Given the description of an element on the screen output the (x, y) to click on. 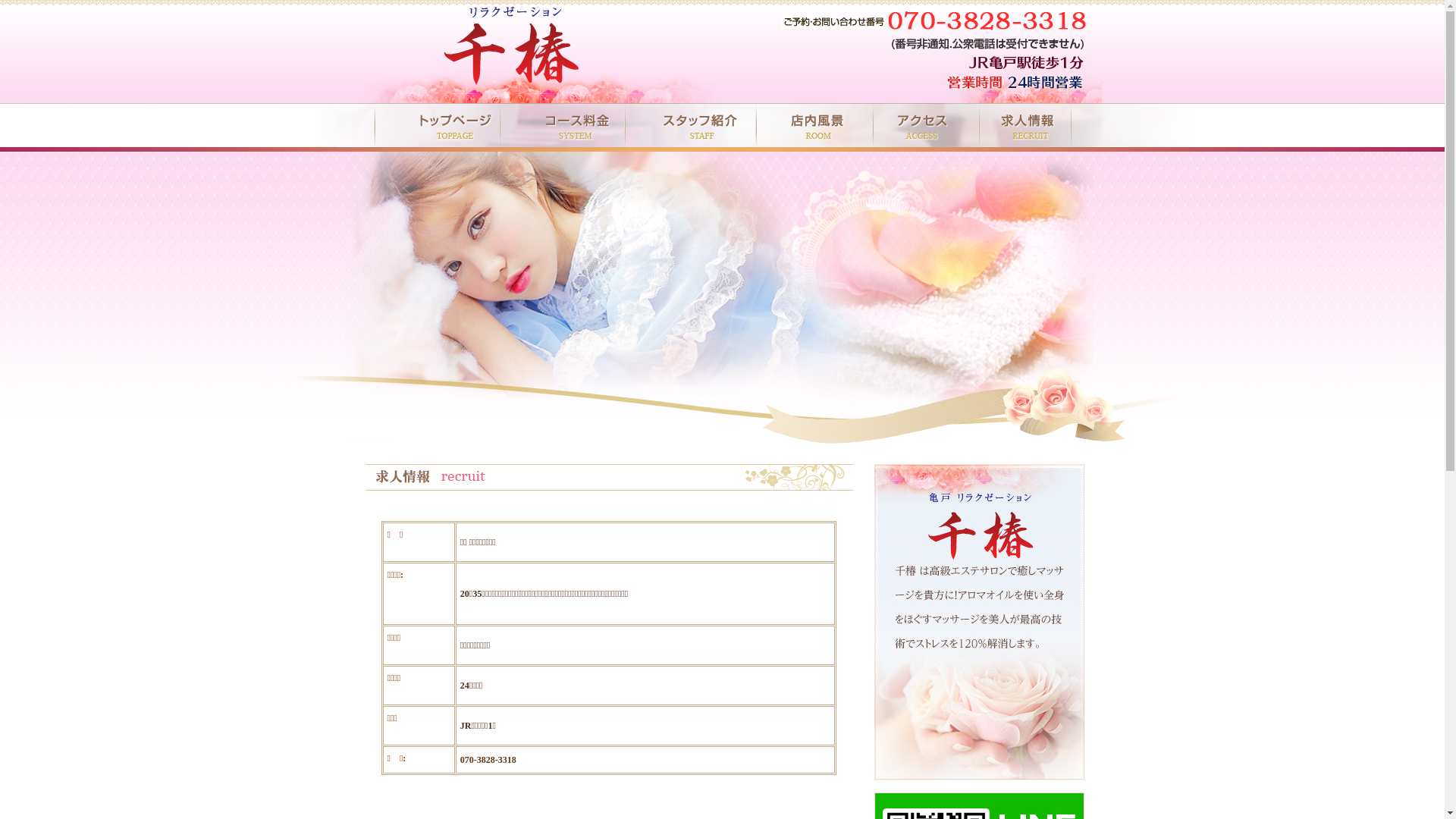
070-3828-3318 Element type: text (488, 759)
